Given the description of an element on the screen output the (x, y) to click on. 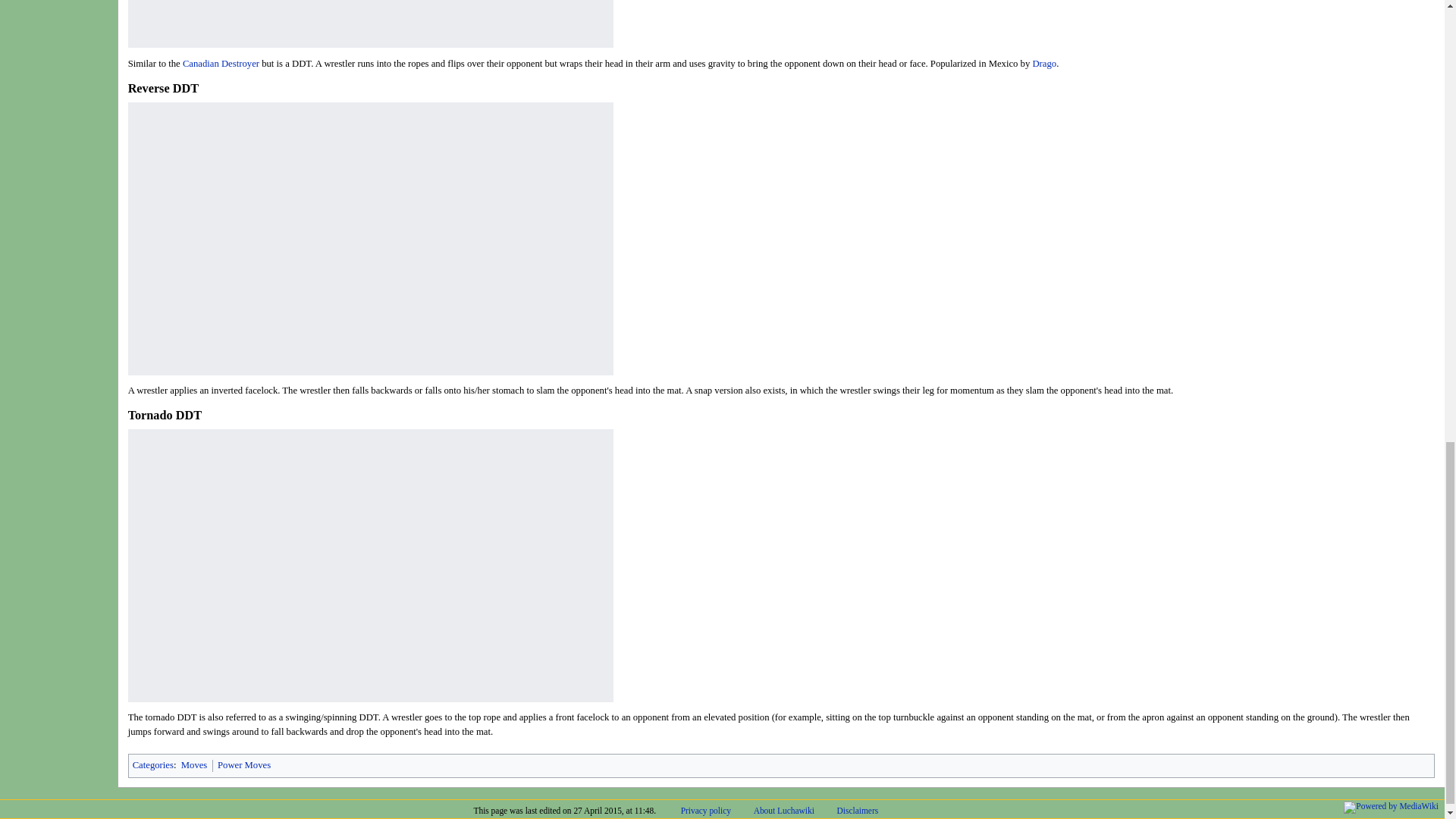
Canadian Destroyer (221, 62)
Category:Power Moves (243, 765)
Canadian Destroyer (221, 62)
Power Moves (243, 765)
Category:Moves (194, 765)
Drago (1044, 62)
Categories (152, 765)
Special:Categories (152, 765)
Moves (194, 765)
